Given the description of an element on the screen output the (x, y) to click on. 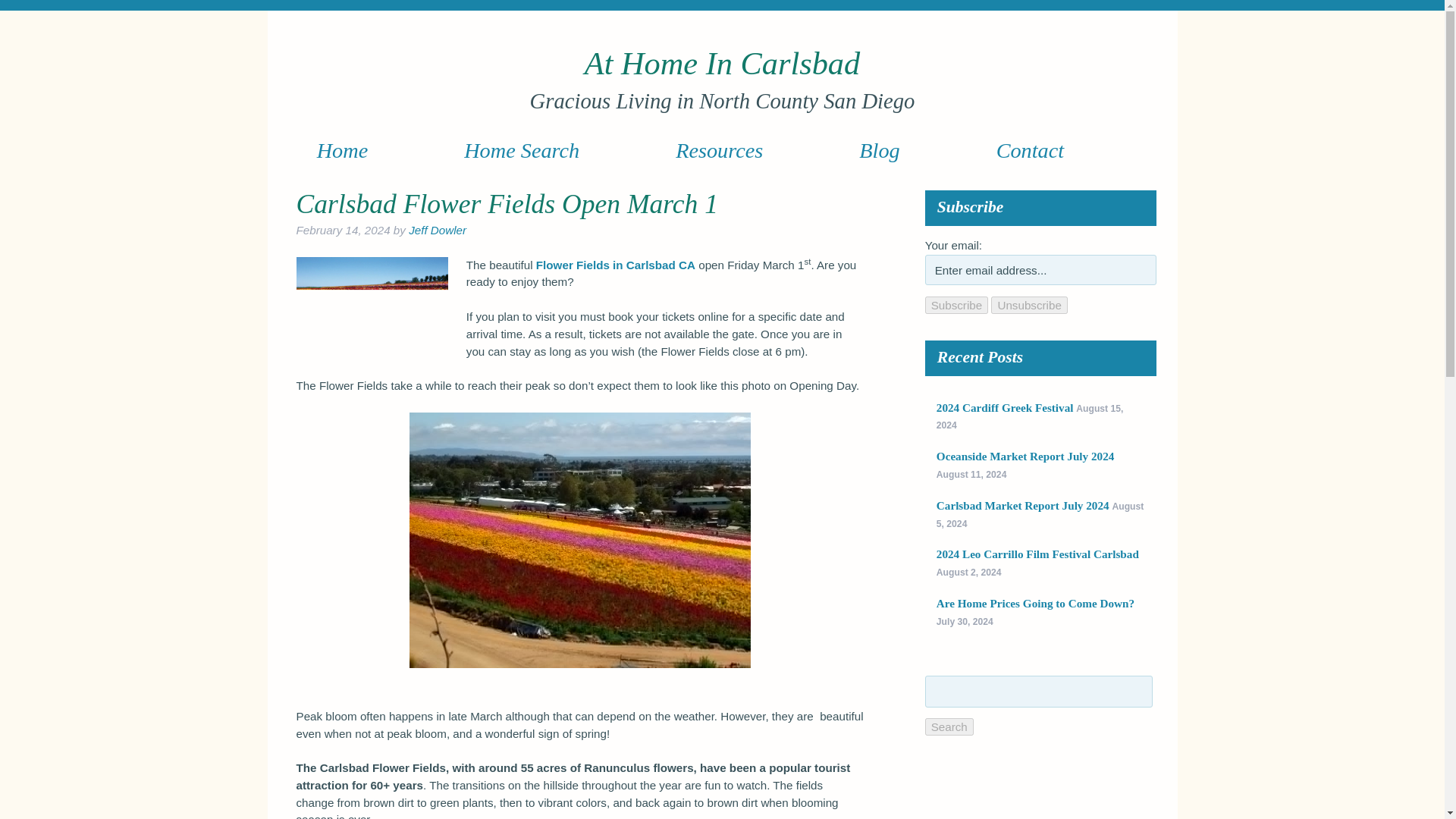
Flower Fields in Carlsbad CA (615, 264)
Contact (1029, 149)
Jeff Dowler (437, 229)
Subscribe (956, 304)
Unsubscribe (1029, 304)
Home Search (522, 149)
Enter email address... (1040, 269)
At Home In Carlsbad (722, 63)
Blog (880, 149)
Home (341, 149)
